Given the description of an element on the screen output the (x, y) to click on. 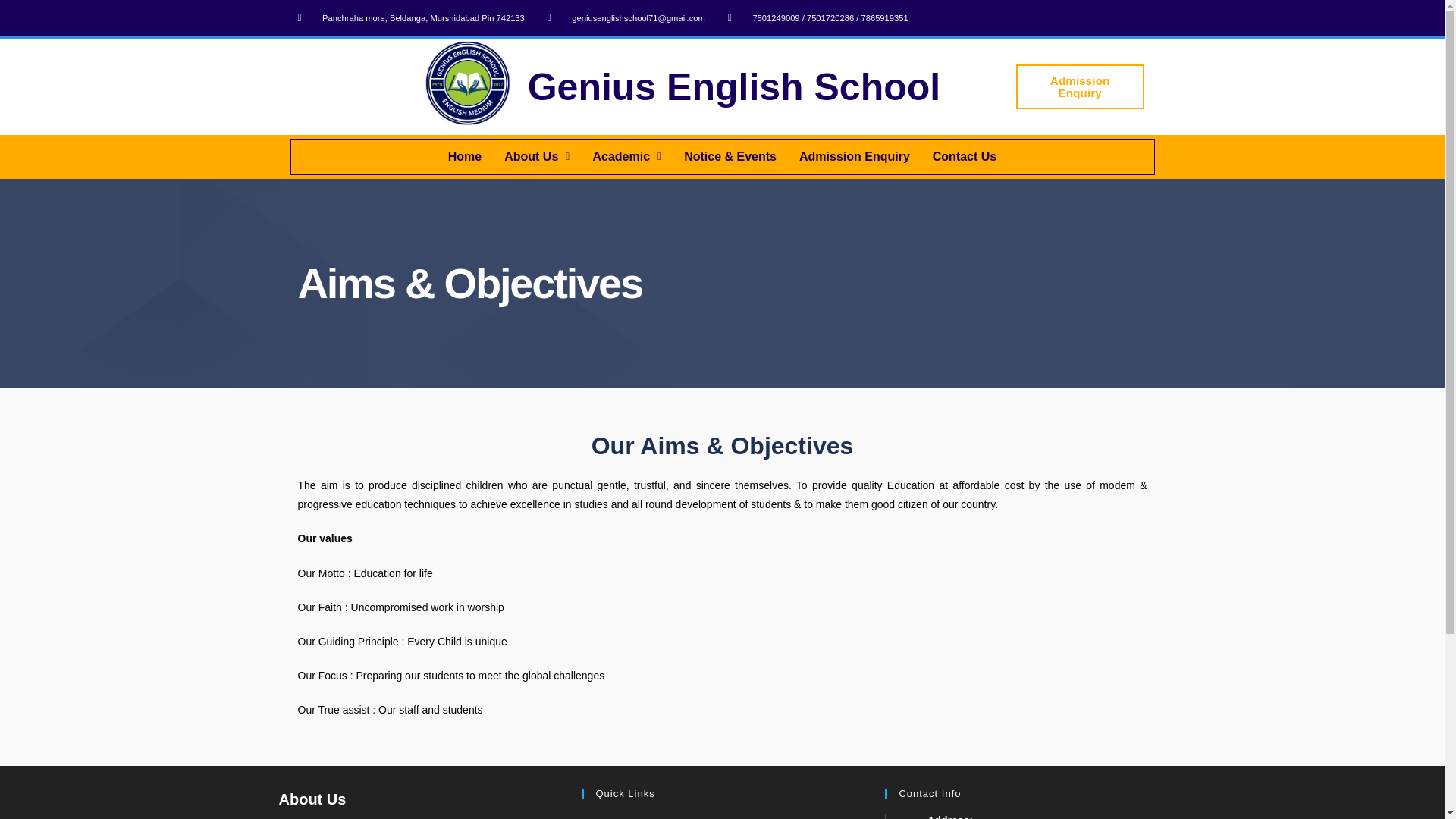
Admission Enquiry (854, 156)
Contact Us (964, 156)
Home (464, 156)
Home (720, 816)
Admission Enquiry (1080, 86)
About Us (536, 156)
Academic (626, 156)
